Given the description of an element on the screen output the (x, y) to click on. 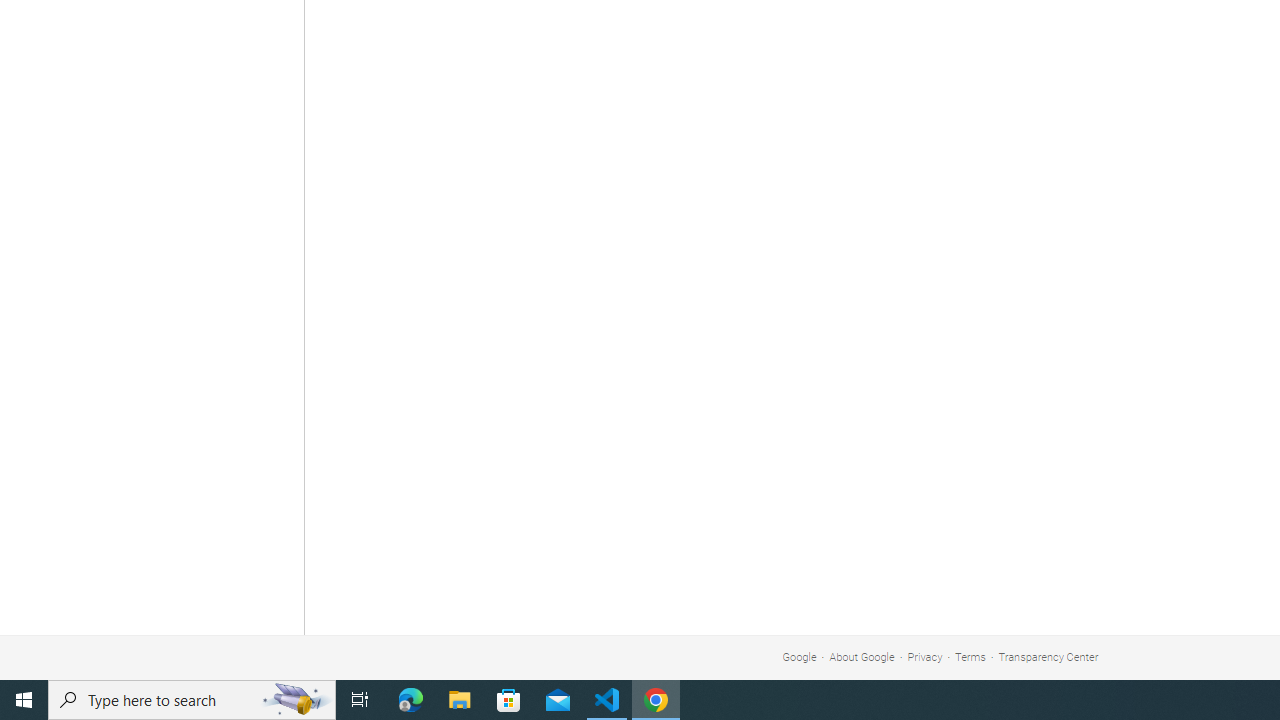
About Google (861, 656)
Privacy (925, 656)
Transparency Center (1048, 656)
Google (799, 656)
